Given the description of an element on the screen output the (x, y) to click on. 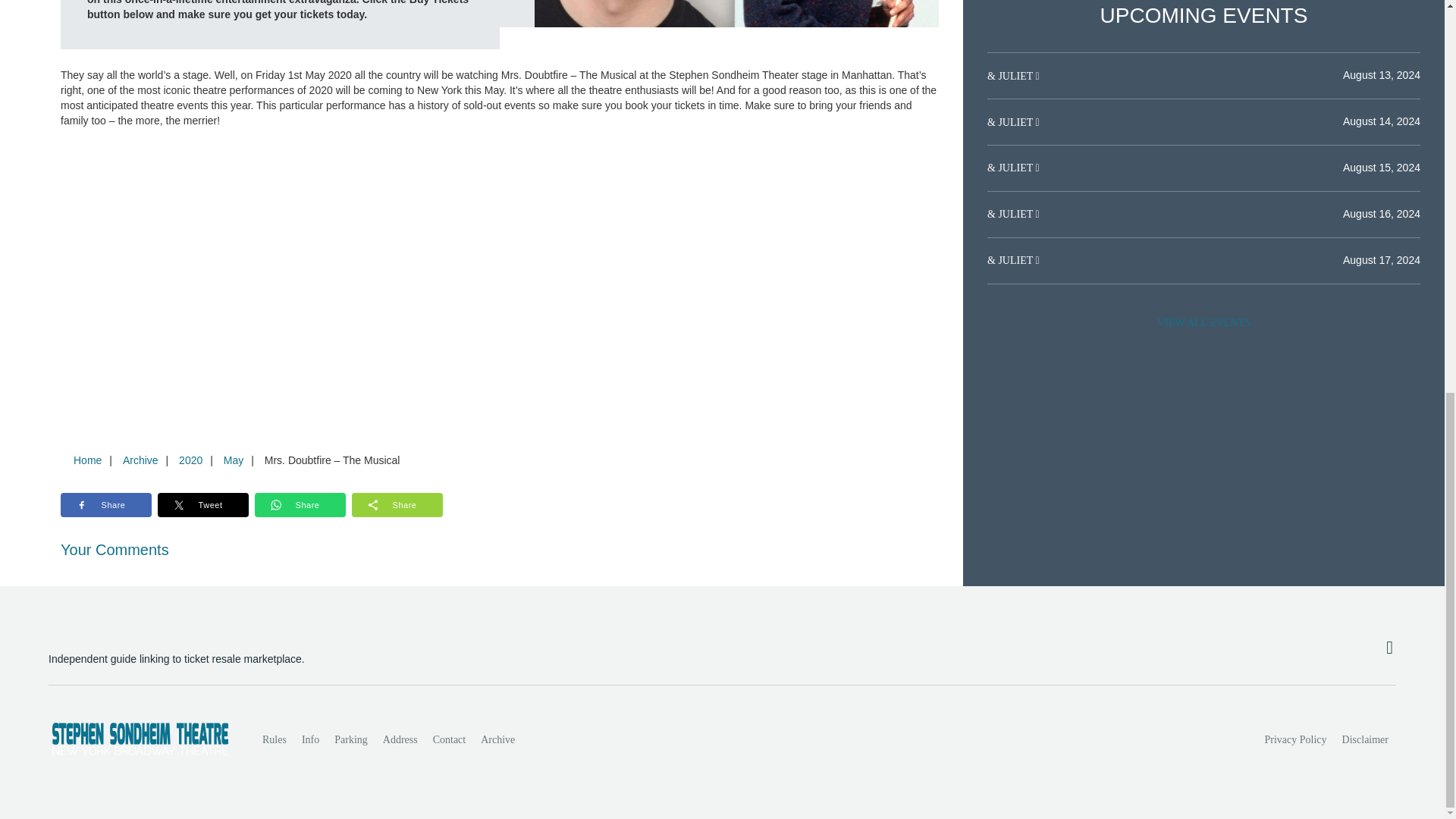
Contact (449, 739)
Home (87, 460)
VIEW ALL EVENTS (1203, 322)
2020 (190, 460)
Rules (274, 739)
Parking (350, 739)
May (232, 460)
Privacy Policy (1296, 739)
Disclaimer (1365, 739)
Archive (140, 460)
